Given the description of an element on the screen output the (x, y) to click on. 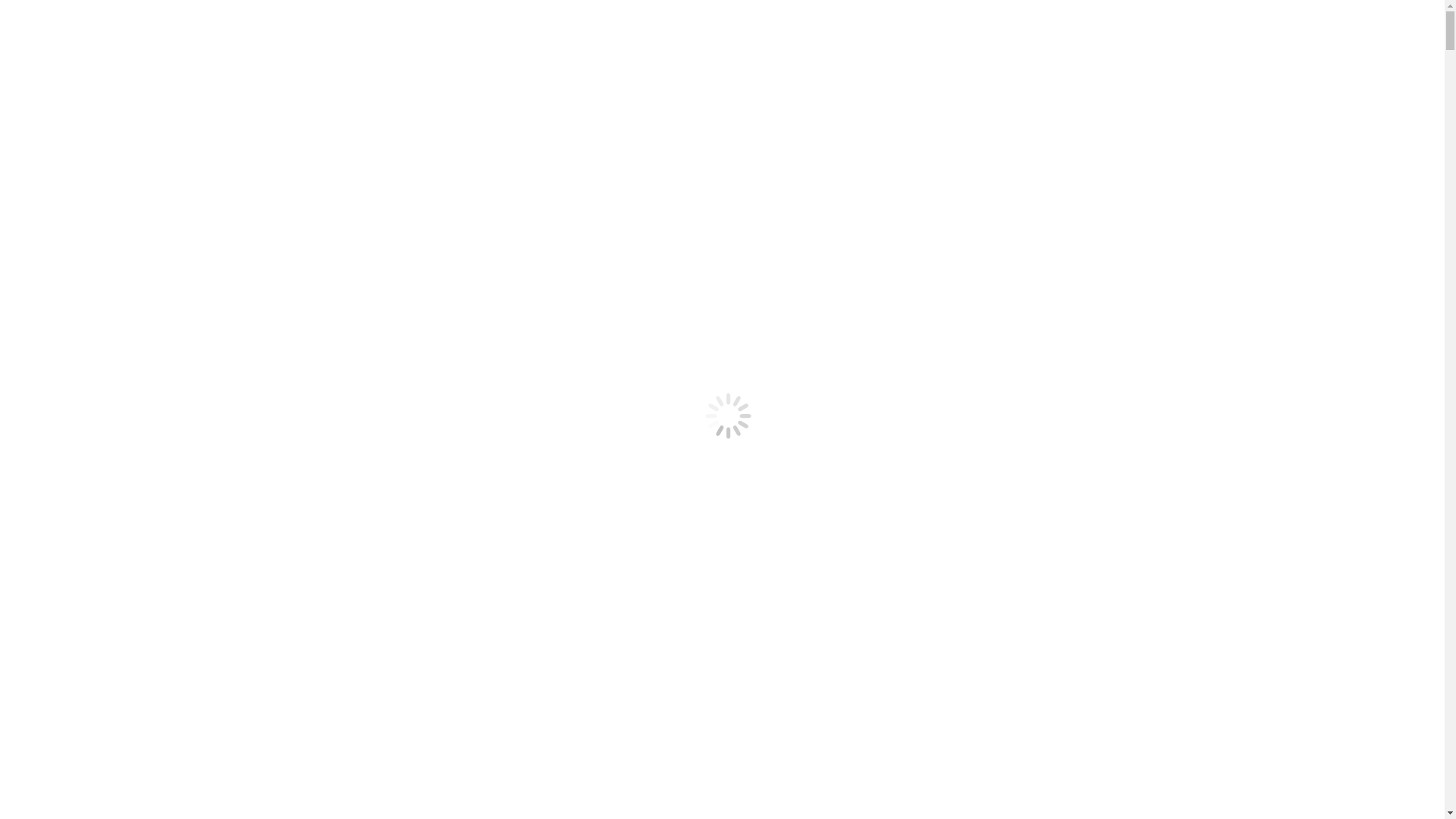
View all Element type: text (26, 678)
About Us Element type: text (59, 298)
Contact Us Element type: text (63, 192)
Careers Element type: text (54, 165)
National Education Program Element type: text (105, 244)
media@yot.org.au Element type: text (256, 652)
About Us Element type: text (59, 379)
Gallery Element type: text (54, 151)
Testimonials Element type: text (67, 365)
Media Release Element type: text (83, 678)
Testimonials Element type: text (67, 285)
Partners Element type: text (55, 351)
Programs Element type: text (141, 678)
Search Element type: text (22, 53)
Go! Element type: text (20, 84)
National Education Program Element type: text (105, 324)
Partners Element type: text (55, 271)
Patron Element type: text (52, 257)
Nov232023 Element type: text (34, 692)
Patron Element type: text (52, 338)
Media Centre Element type: text (69, 178)
Skip to content Element type: text (42, 12)
